Given the description of an element on the screen output the (x, y) to click on. 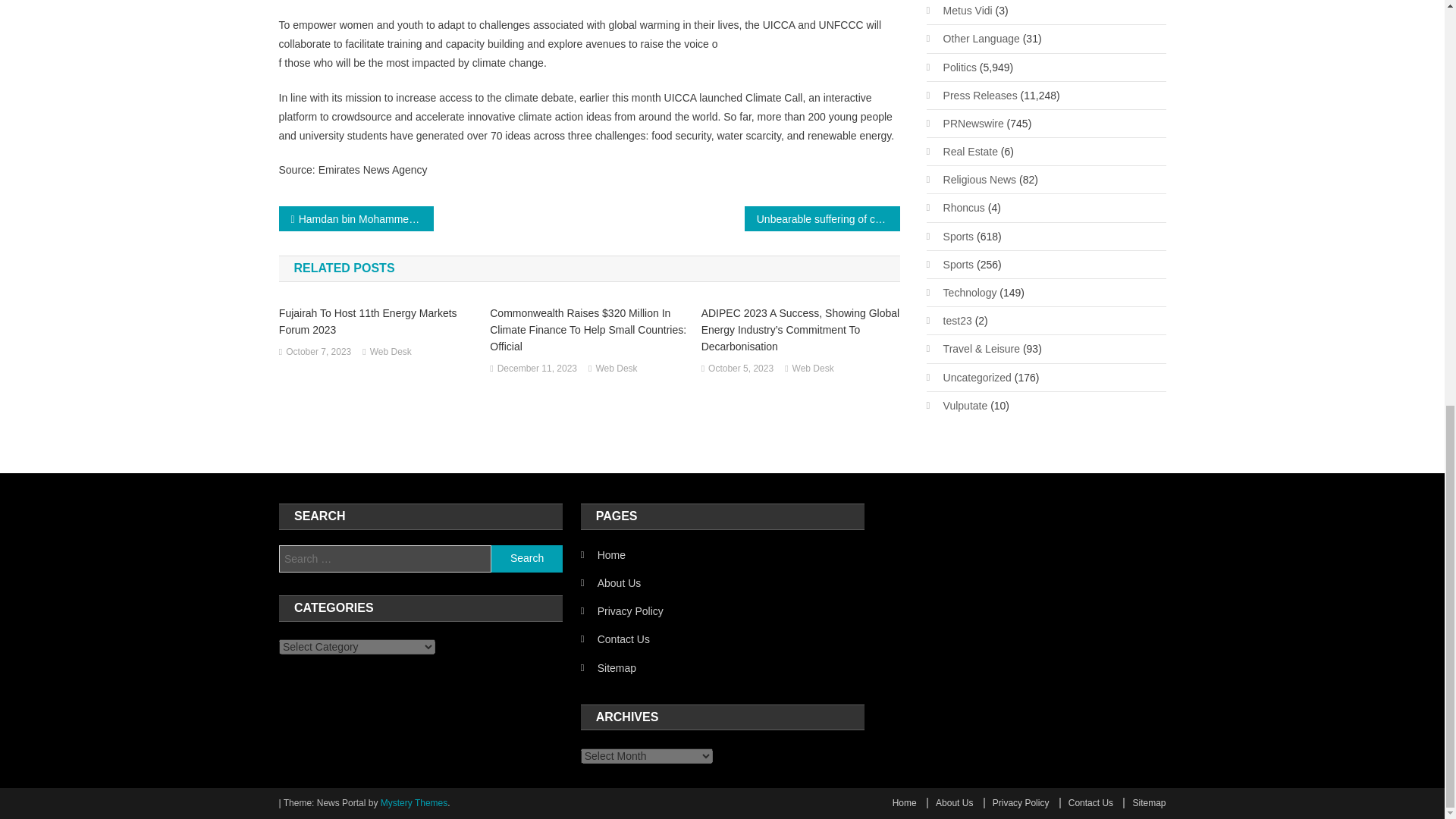
December 11, 2023 (536, 369)
October 7, 2023 (317, 352)
Web Desk (813, 369)
October 5, 2023 (740, 369)
Search (527, 558)
Web Desk (616, 369)
Fujairah To Host 11th Energy Markets Forum 2023 (378, 321)
Search (527, 558)
Web Desk (390, 352)
